Given the description of an element on the screen output the (x, y) to click on. 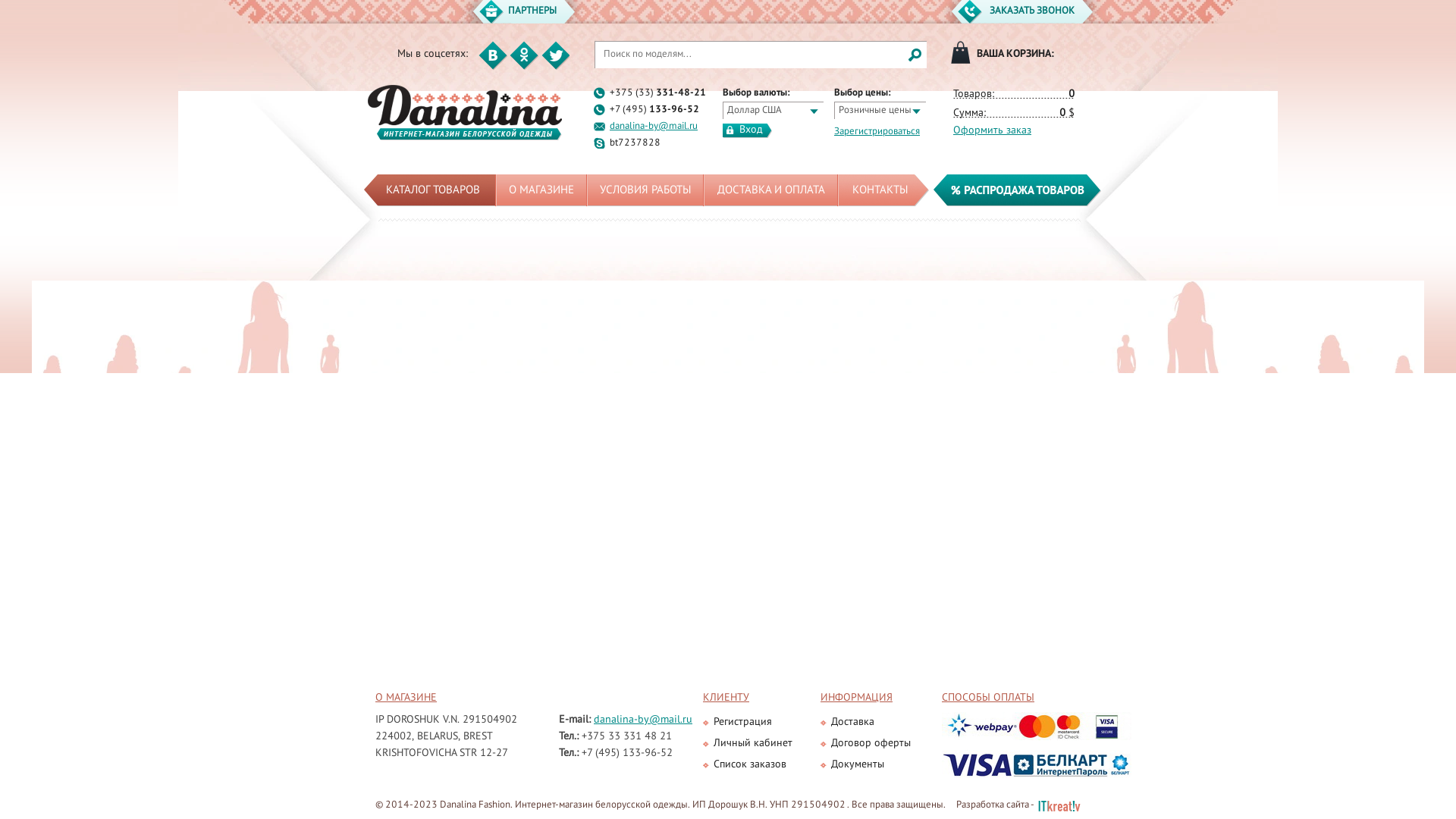
danalina-by@mail.ru Element type: text (642, 719)
danalina-by@mail.ru Element type: text (653, 126)
